Given the description of an element on the screen output the (x, y) to click on. 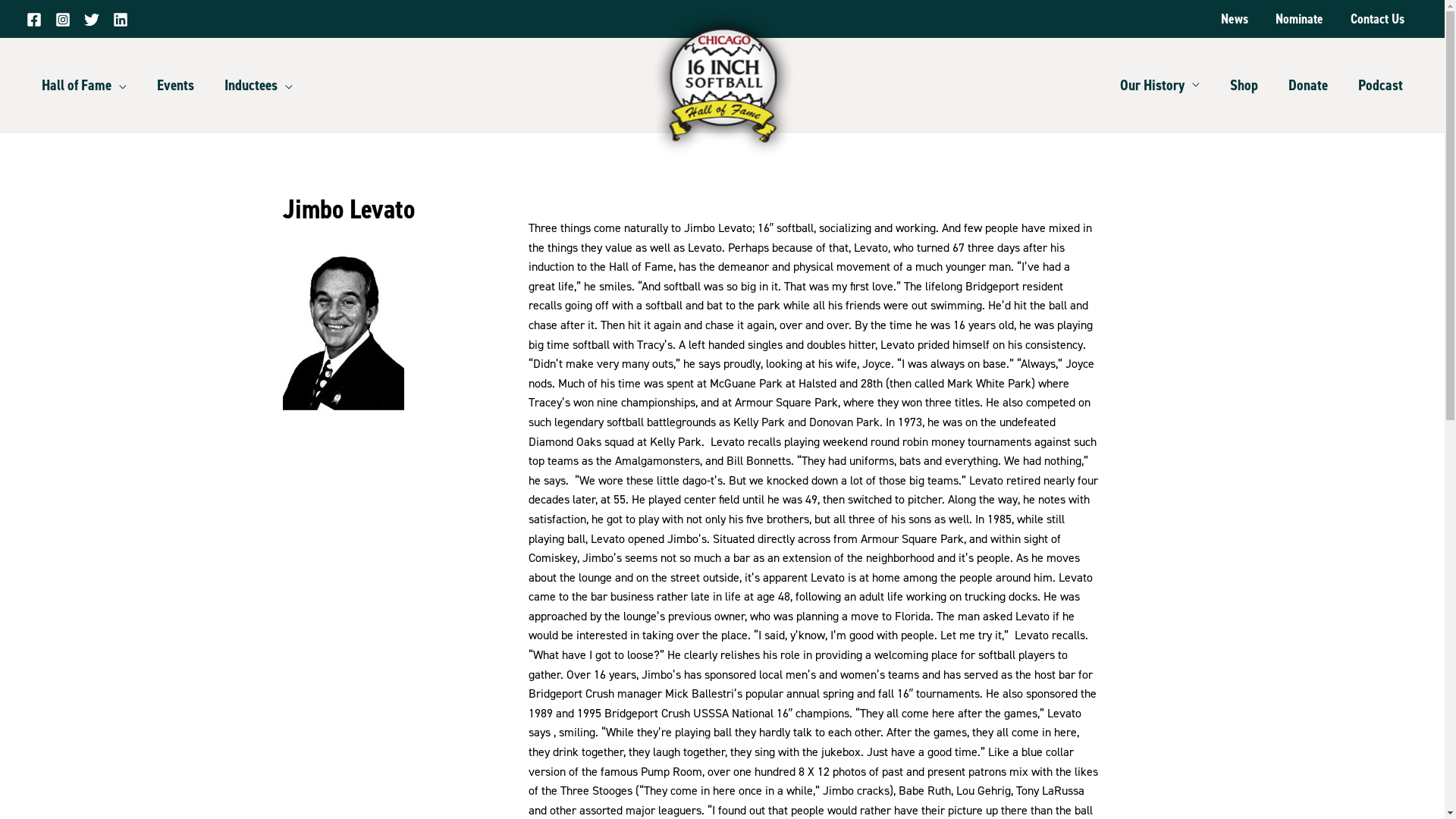
Hall of Fame Element type: text (83, 84)
Inductees Element type: text (258, 84)
Events Element type: text (175, 84)
News Element type: text (1234, 18)
Shop Element type: text (1243, 84)
Nominate Element type: text (1298, 18)
Contact Us Element type: text (1377, 18)
Podcast Element type: text (1380, 84)
Our History Element type: text (1159, 84)
Donate Element type: text (1308, 84)
